Given the description of an element on the screen output the (x, y) to click on. 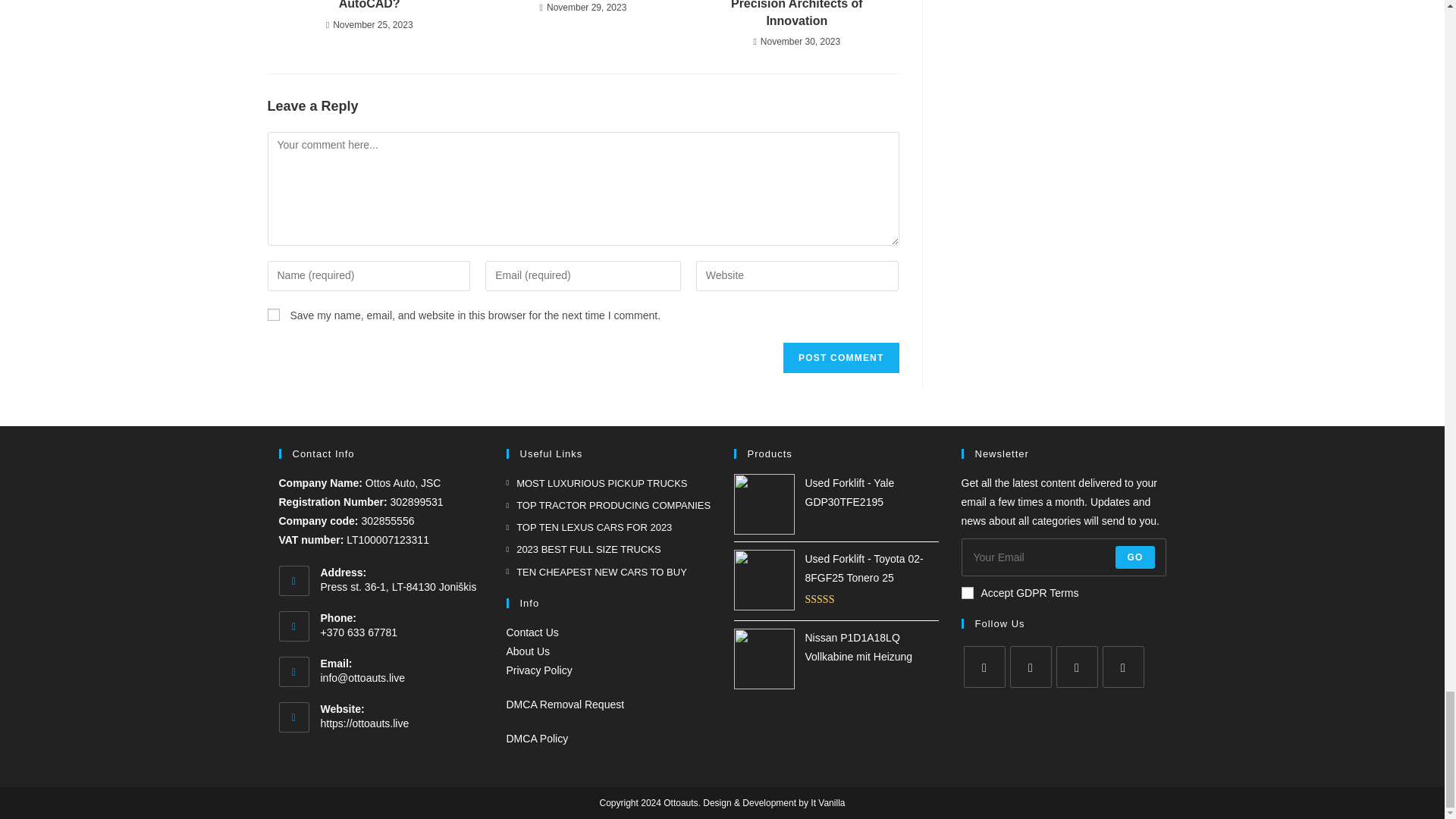
1 (967, 592)
Post Comment (840, 358)
yes (272, 314)
